Given the description of an element on the screen output the (x, y) to click on. 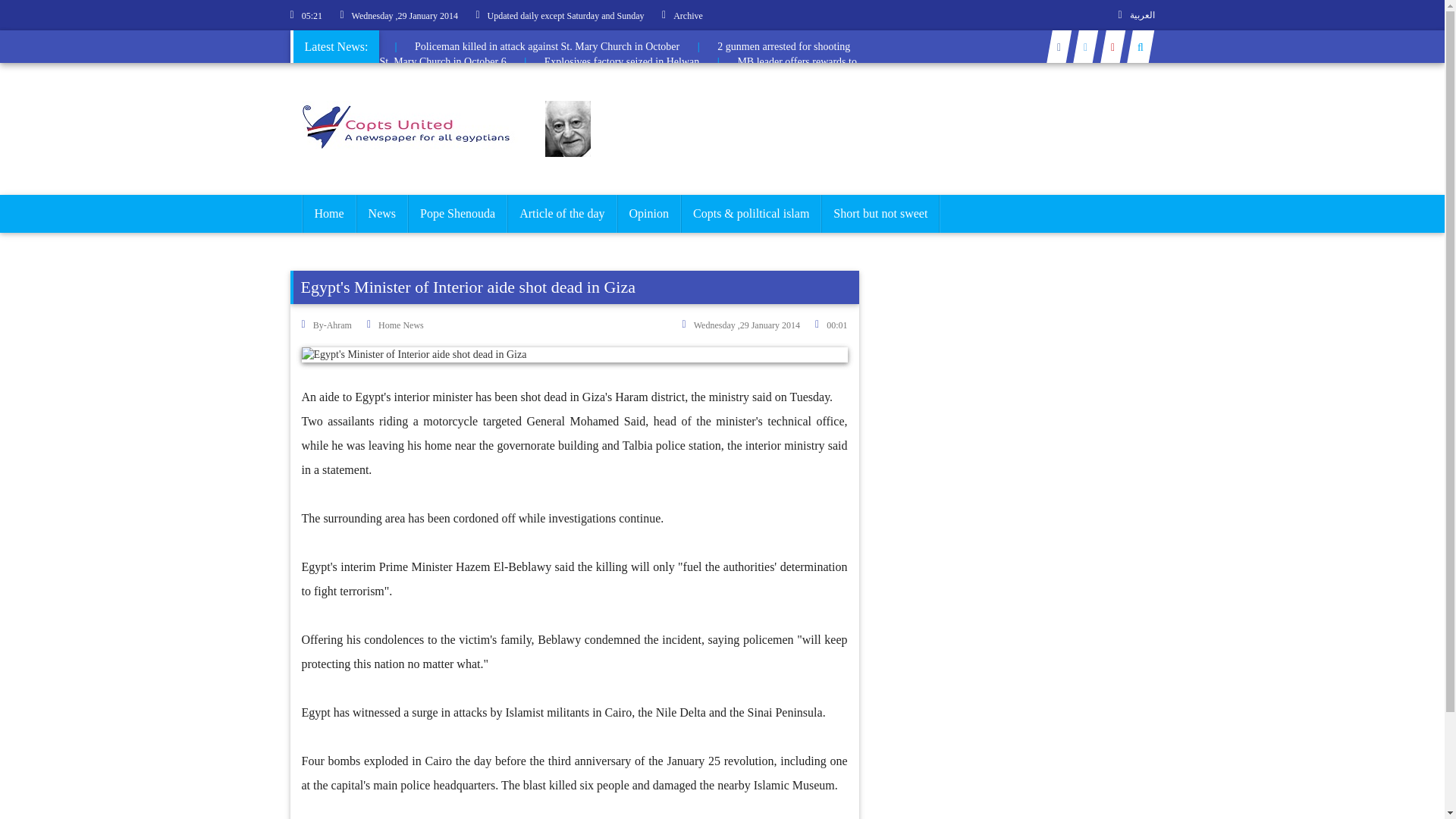
Opinion (648, 213)
Pope Shenouda (457, 213)
News (381, 213)
Article of the day (561, 213)
Home (328, 213)
Short but not sweet (880, 213)
